Given the description of an element on the screen output the (x, y) to click on. 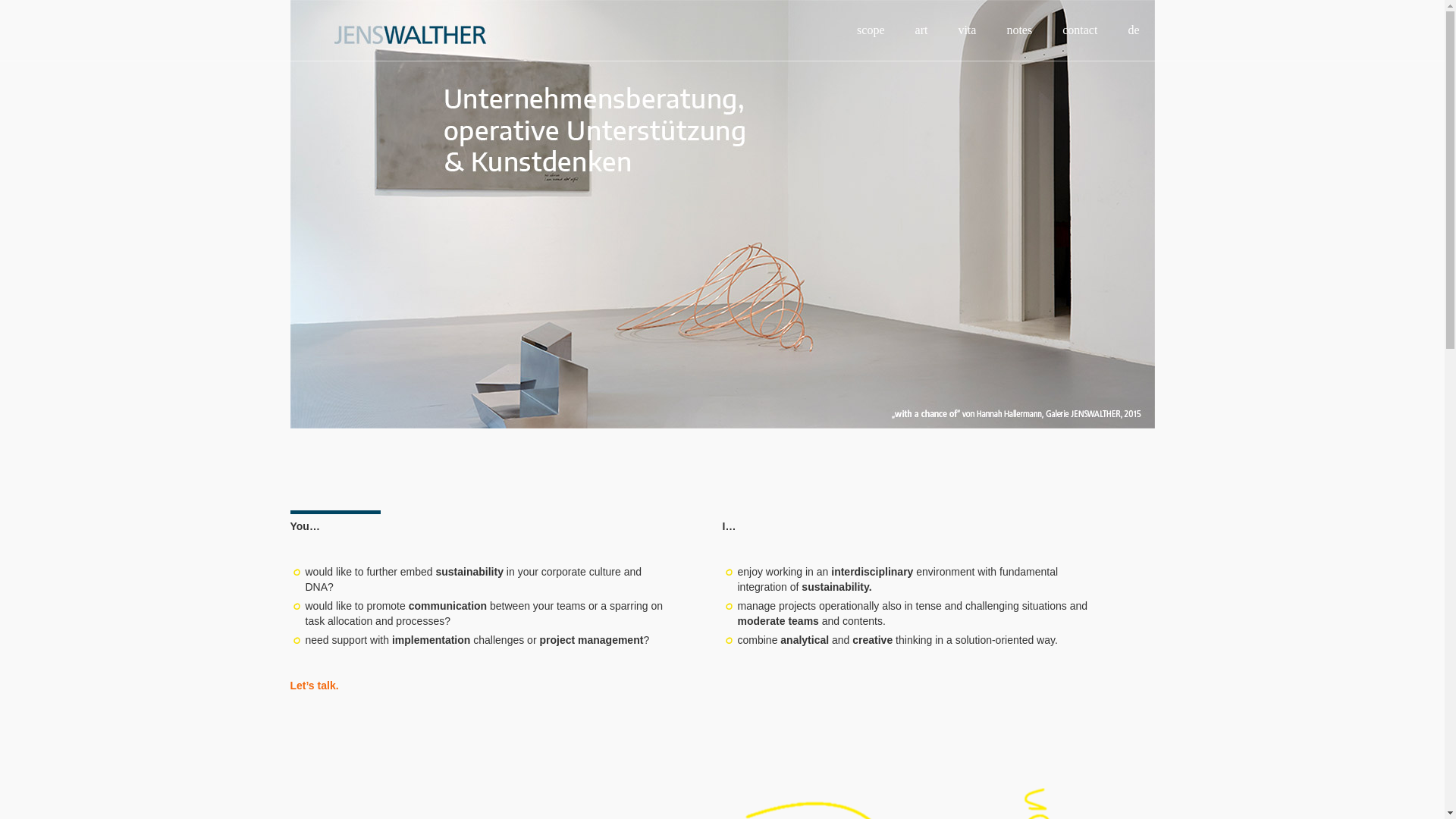
notes (1018, 30)
contact (1079, 30)
scope (870, 30)
